Given the description of an element on the screen output the (x, y) to click on. 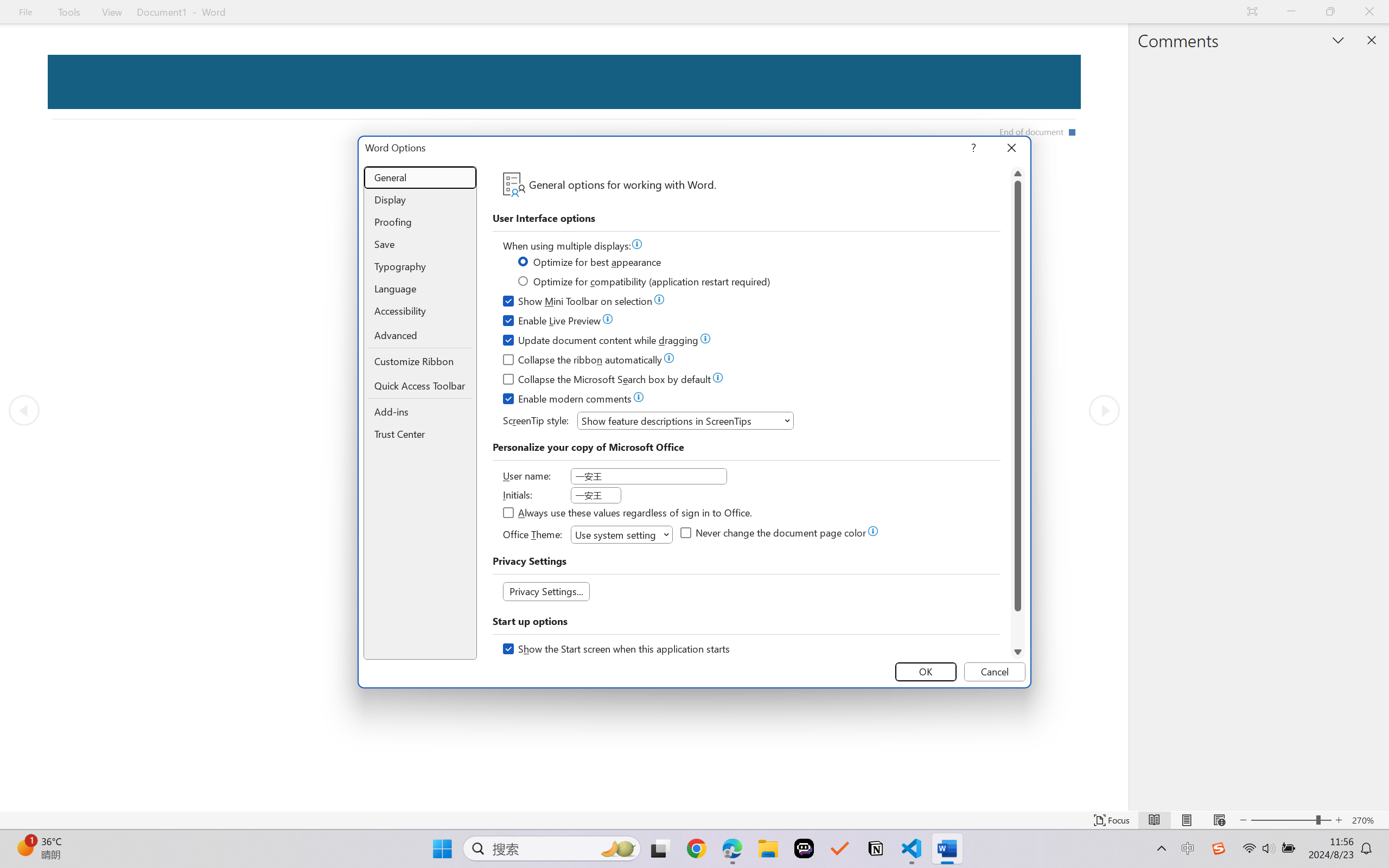
Collapse the Microsoft Search box by default (607, 380)
Language (419, 288)
Page down (1018, 627)
Proofing (419, 221)
Cancel (994, 671)
Add-ins (419, 412)
Customize Ribbon (419, 361)
